Given the description of an element on the screen output the (x, y) to click on. 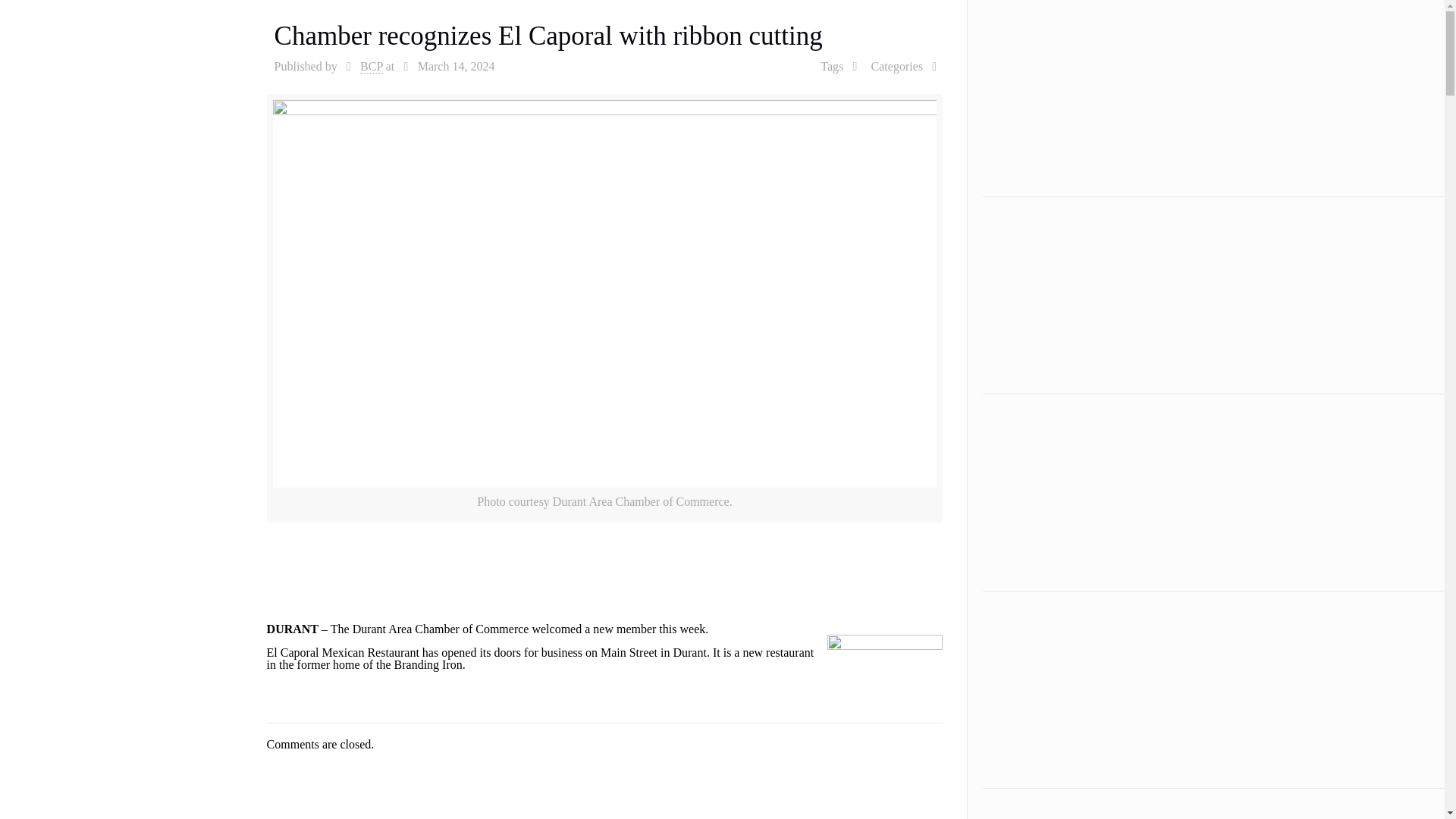
BCP (370, 66)
